Given the description of an element on the screen output the (x, y) to click on. 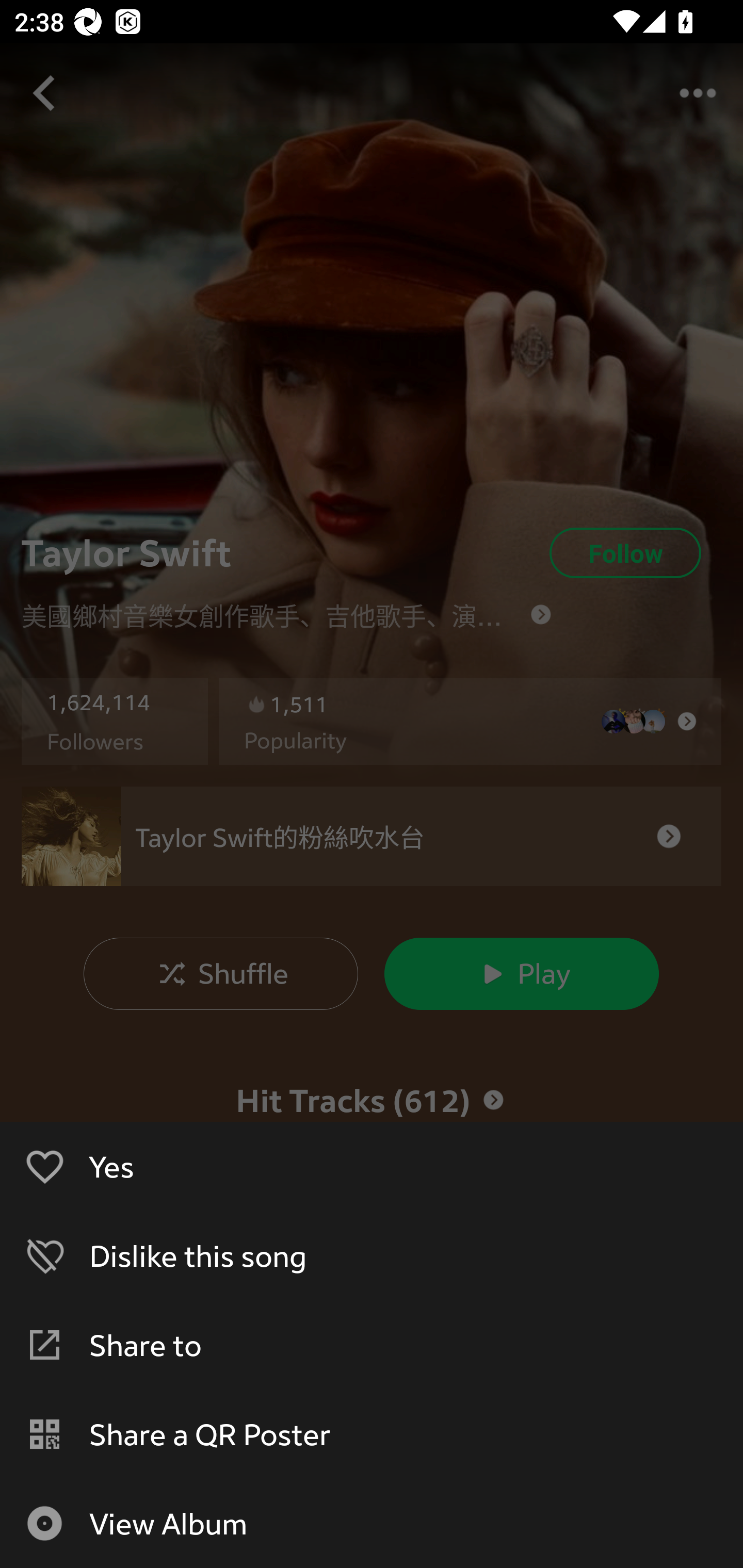
Yes (371, 1165)
Dislike this song (371, 1254)
Share to (371, 1344)
Share a QR Poster (371, 1433)
View Album (371, 1523)
